Given the description of an element on the screen output the (x, y) to click on. 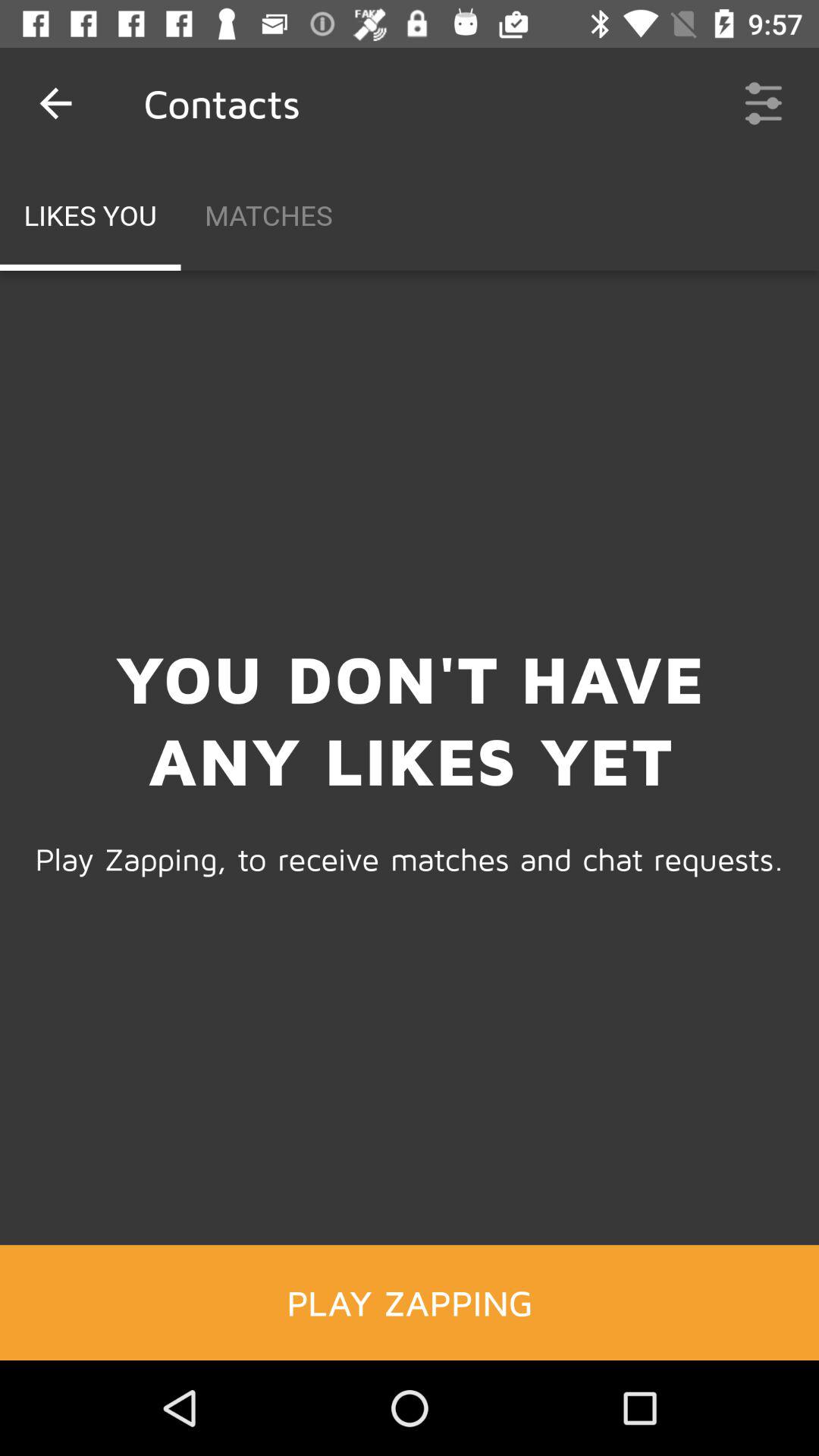
launch the icon at the top right corner (763, 103)
